Given the description of an element on the screen output the (x, y) to click on. 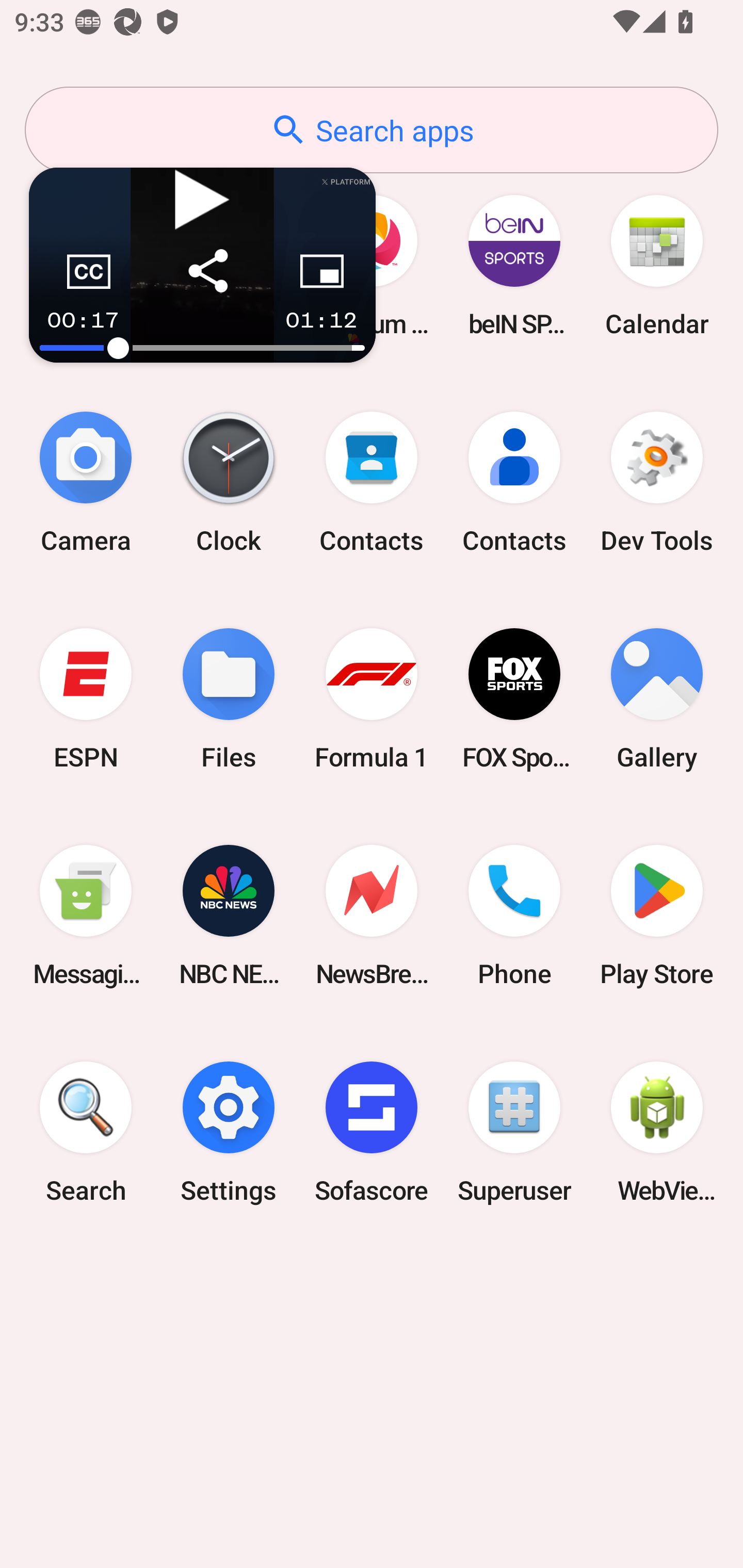
  Search apps (371, 130)
beIN SPORTS (514, 264)
Calendar (656, 264)
Camera (85, 482)
Clock (228, 482)
Contacts (371, 482)
Contacts (514, 482)
Dev Tools (656, 482)
ESPN (85, 699)
Files (228, 699)
Formula 1 (371, 699)
FOX Sports (514, 699)
Gallery (656, 699)
Messaging (85, 915)
NBC NEWS (228, 915)
NewsBreak (371, 915)
Phone (514, 915)
Play Store (656, 915)
Search (85, 1131)
Settings (228, 1131)
Sofascore (371, 1131)
Superuser (514, 1131)
WebView Browser Tester (656, 1131)
